Given the description of an element on the screen output the (x, y) to click on. 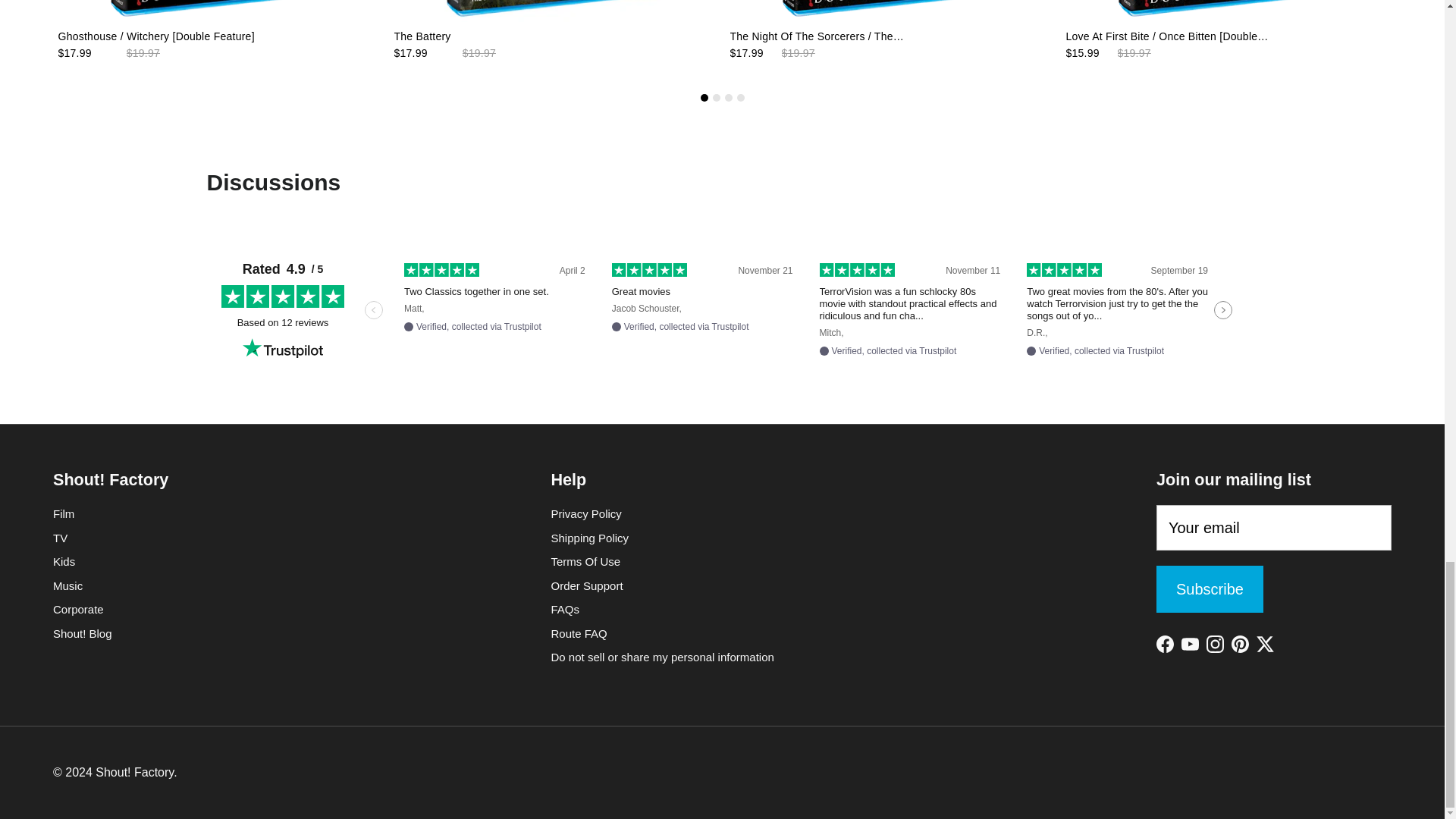
Shout! Factory on Facebook (1164, 643)
Shout! Factory on Pinterest (1240, 643)
Shout! Factory on Instagram (1215, 643)
Customer reviews powered by Trustpilot (721, 310)
Shout! Factory on Twitter (1265, 643)
Shout! Factory on YouTube (1189, 643)
